Given the description of an element on the screen output the (x, y) to click on. 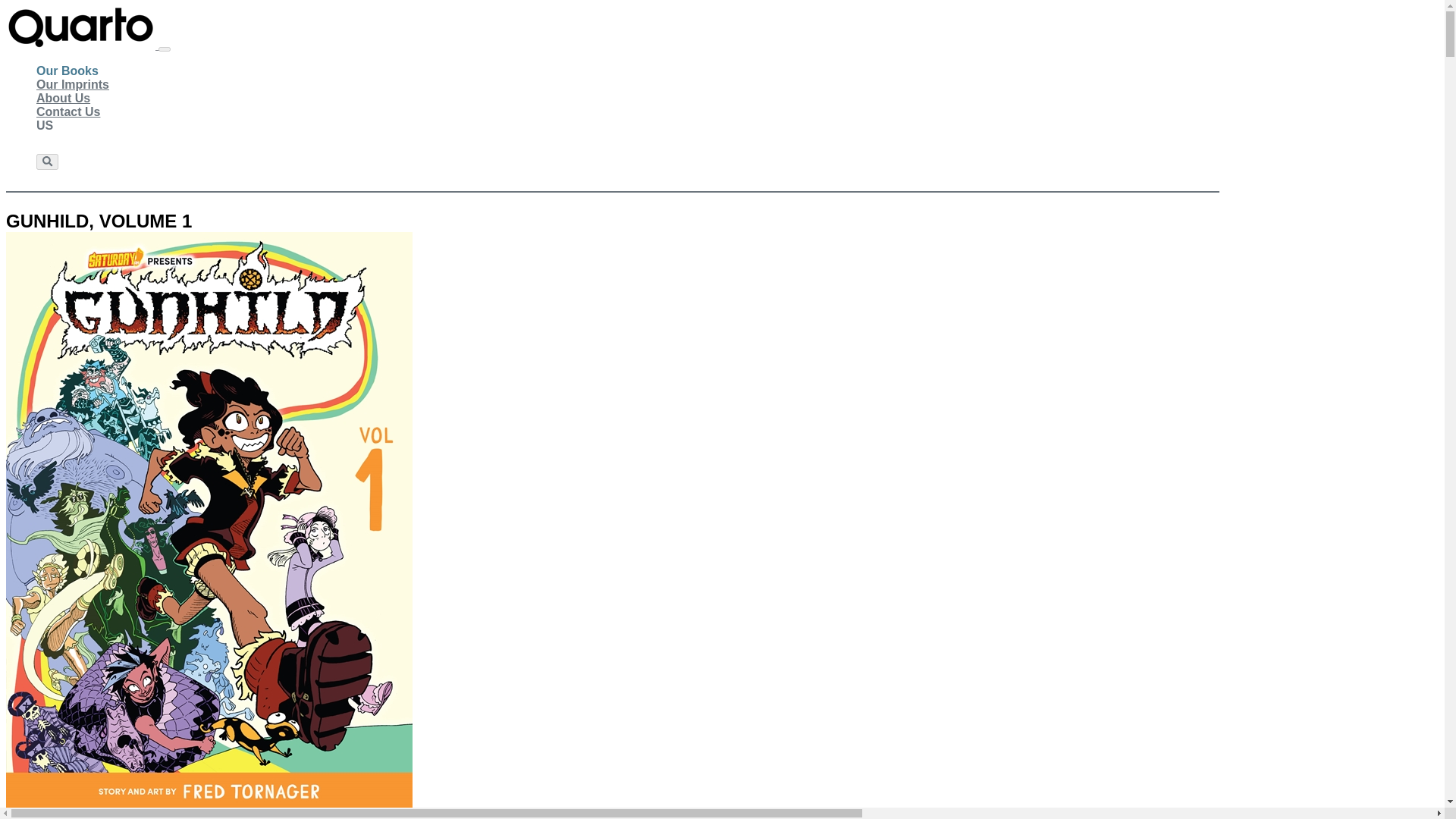
US (44, 125)
About Us (63, 98)
Our Books (67, 70)
Our Imprints (72, 84)
Contact Us (68, 111)
